Given the description of an element on the screen output the (x, y) to click on. 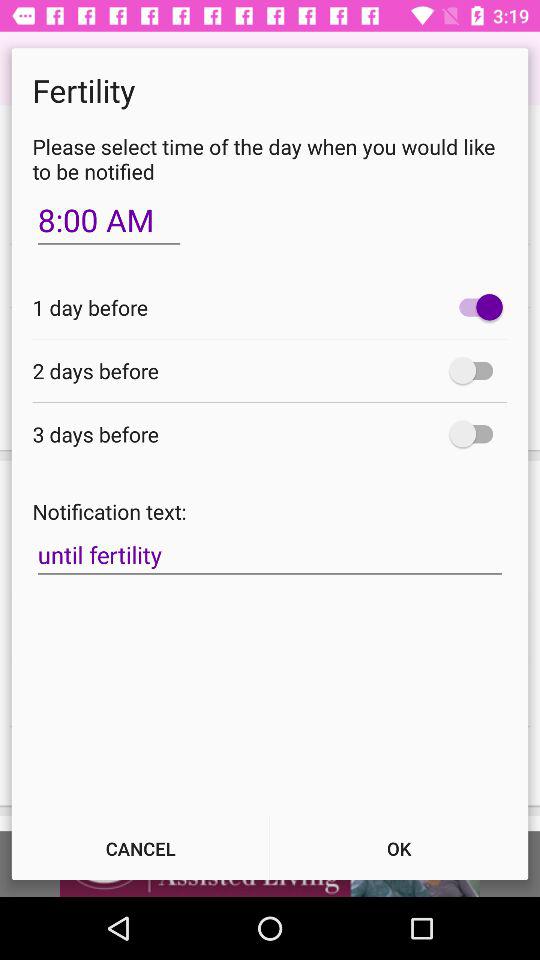
click the icon above 1 day before icon (108, 220)
